Given the description of an element on the screen output the (x, y) to click on. 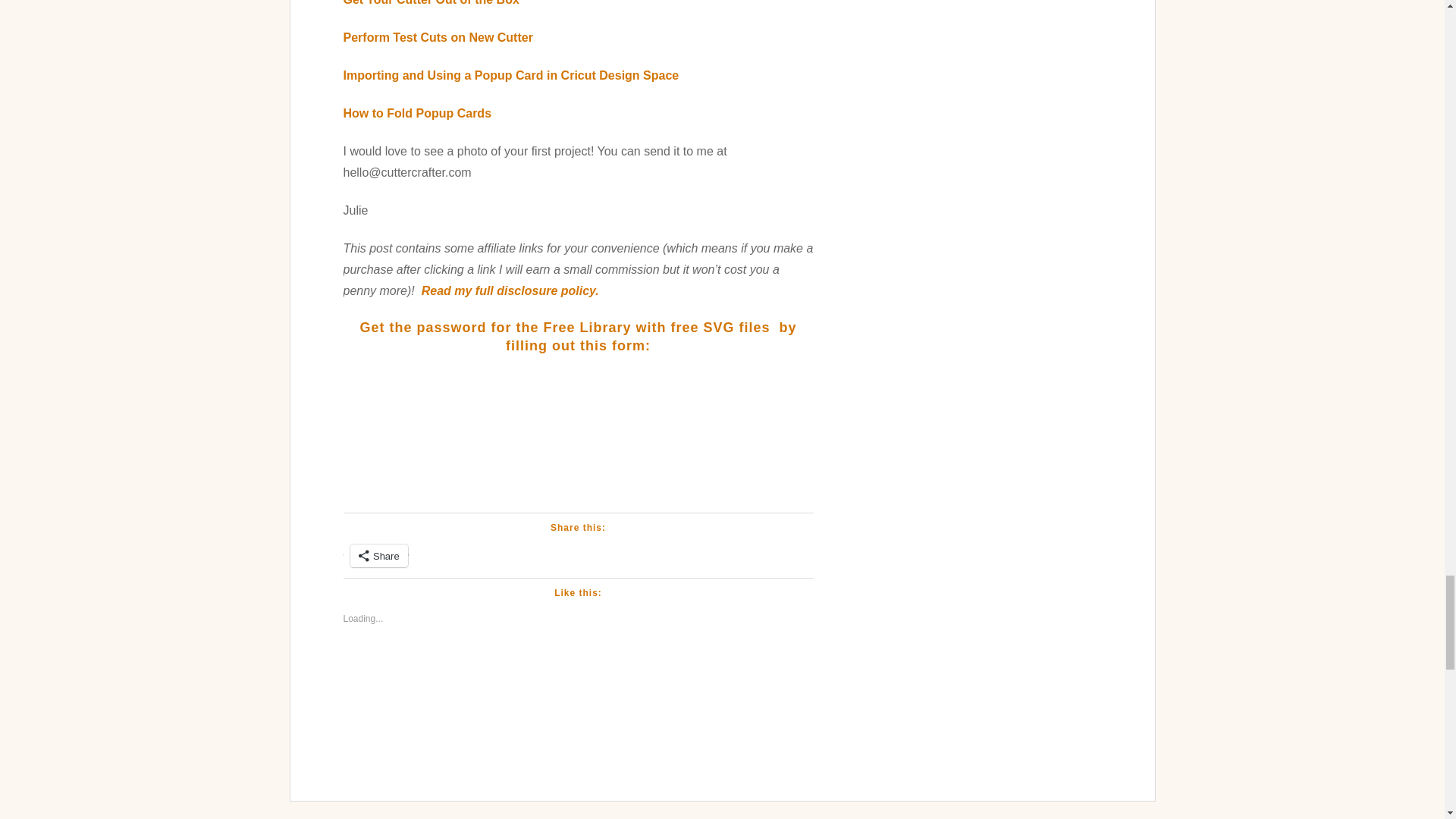
Perform Test Cuts on New Cutter (437, 37)
Read my full disclosure policy. (510, 290)
Get Your Cutter Out of the Box (430, 2)
How to Fold Popup Cards (417, 113)
Importing and Using a Popup Card in Cricut Design Space (510, 74)
Share (378, 555)
